Given the description of an element on the screen output the (x, y) to click on. 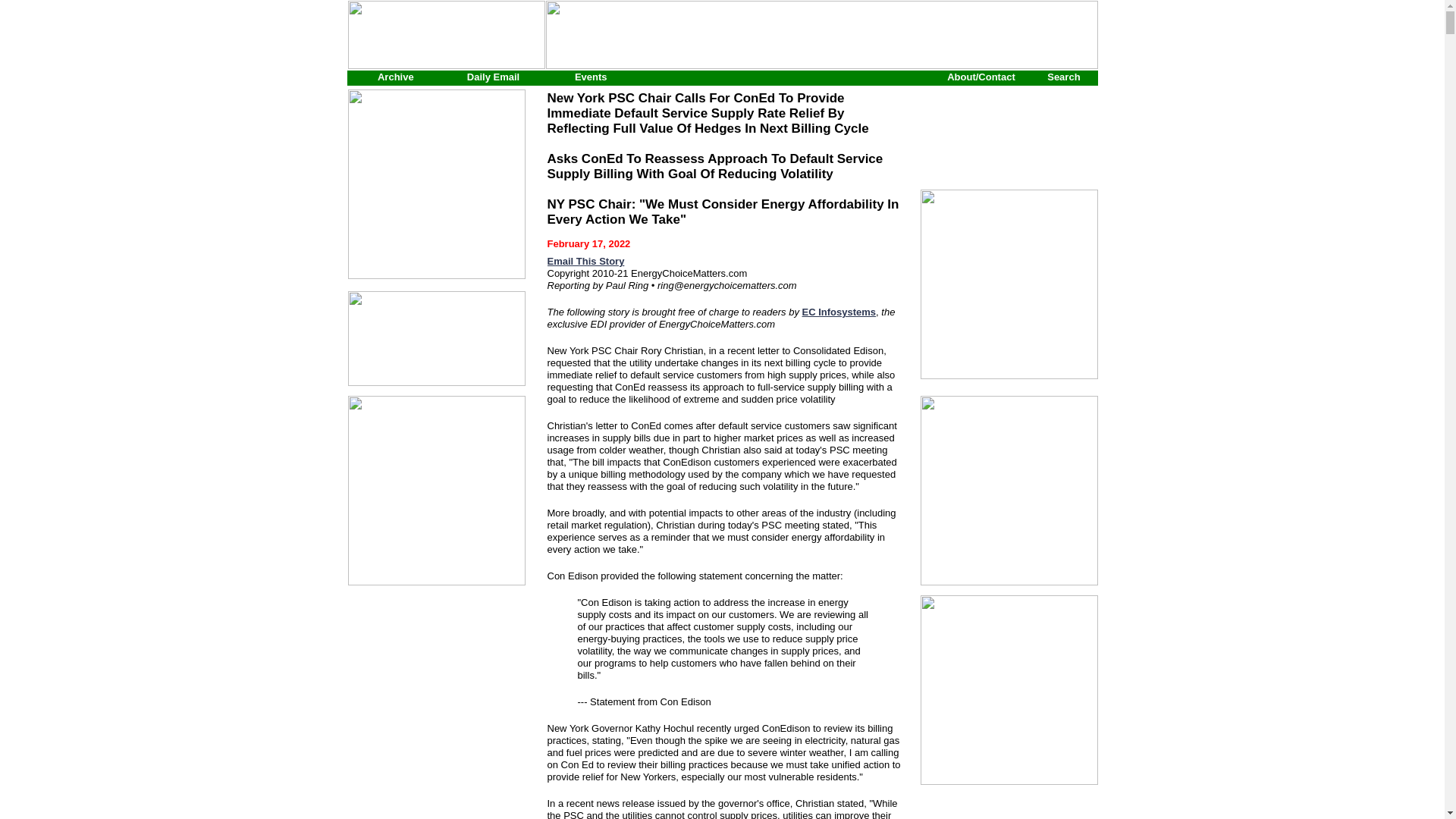
Email This Story (585, 260)
Archive (395, 76)
Events (591, 76)
Daily Email (493, 76)
EC Infosystems (839, 311)
Search (1063, 76)
